Given the description of an element on the screen output the (x, y) to click on. 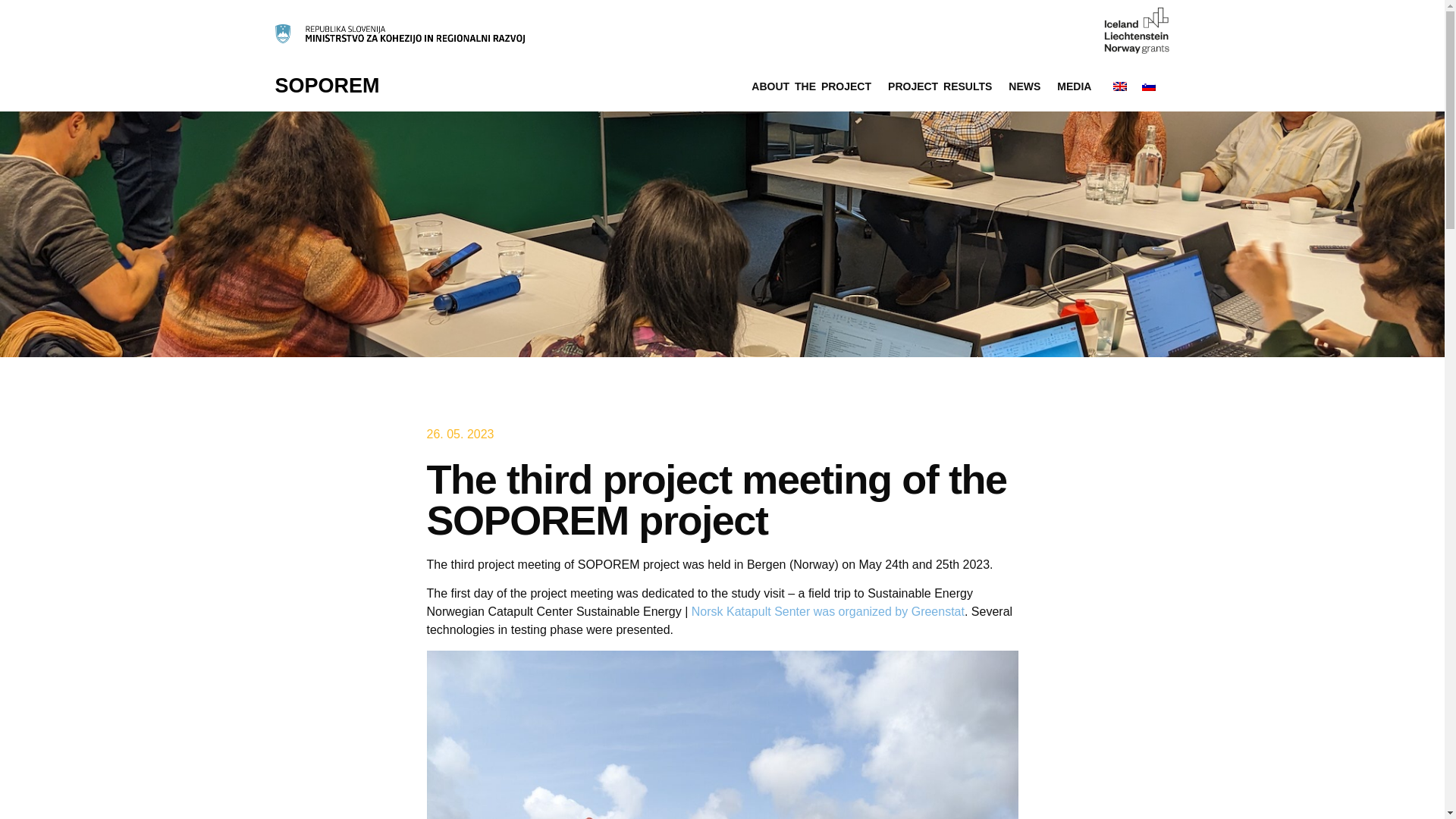
26. 05. 2023 (459, 434)
ABOUT THE PROJECT (810, 86)
SOPOREM (326, 85)
MEDIA (1073, 86)
PROJECT RESULTS (939, 86)
Norsk Katapult Senter was organized by Greenstat (827, 611)
NEWS (1024, 86)
